Given the description of an element on the screen output the (x, y) to click on. 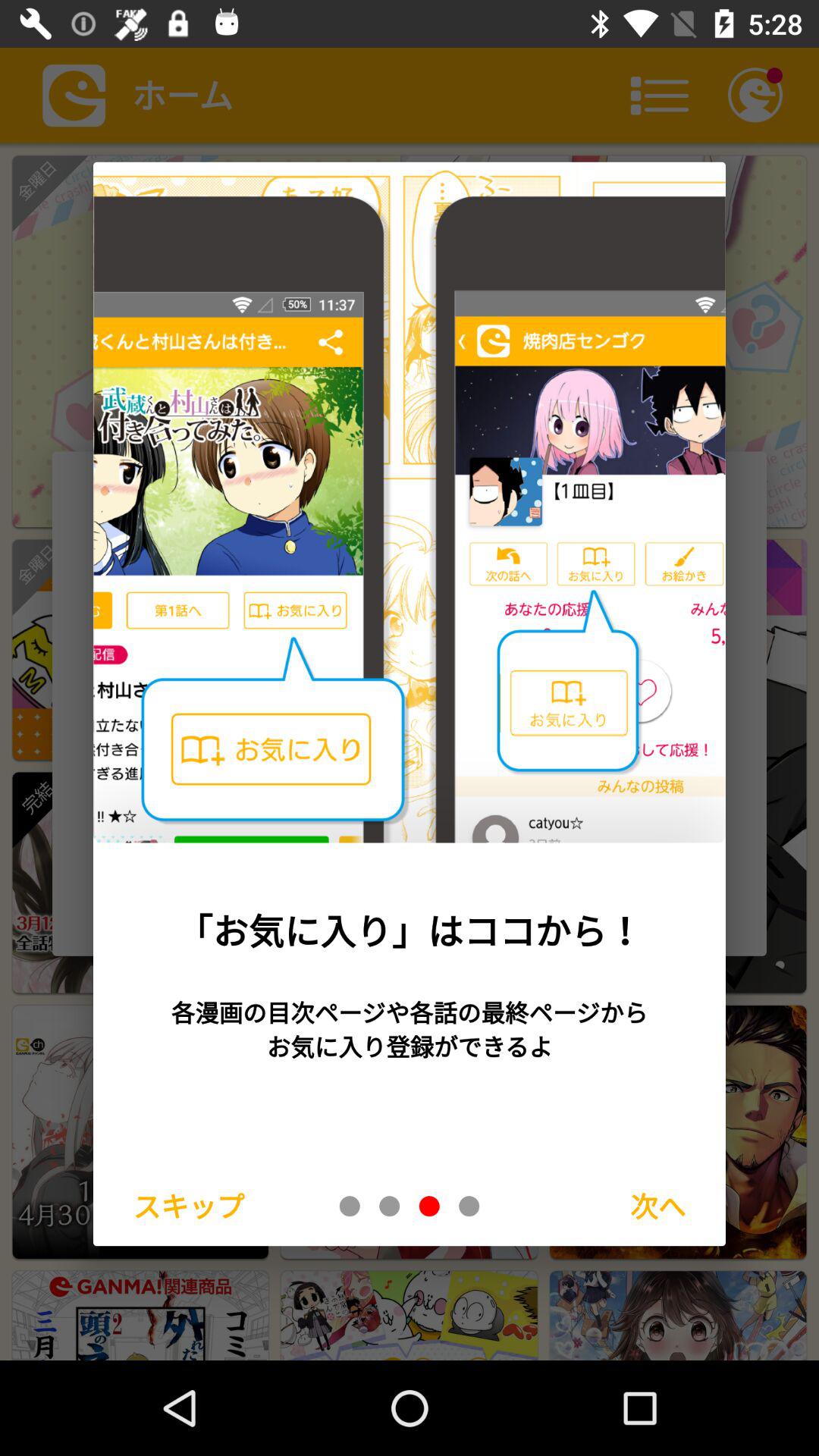
go next (469, 1206)
